Given the description of an element on the screen output the (x, y) to click on. 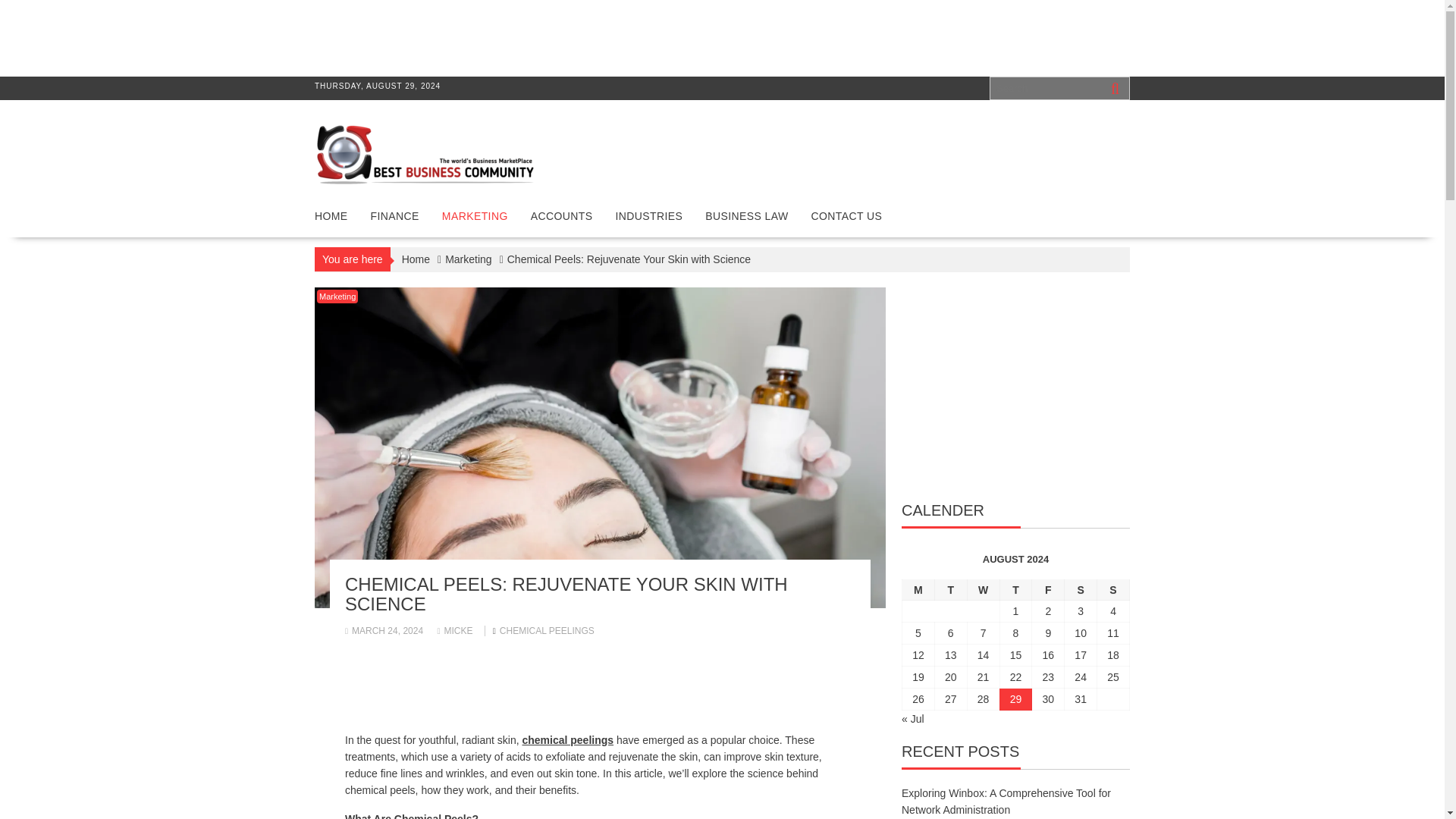
MARCH 24, 2024 (384, 630)
Thursday (1015, 589)
Home (415, 258)
CHEMICAL PEELINGS (546, 630)
18 (1112, 654)
17 (1080, 654)
Advertisement (265, 36)
Marketing (337, 296)
15 (1016, 654)
Wednesday (982, 589)
